Given the description of an element on the screen output the (x, y) to click on. 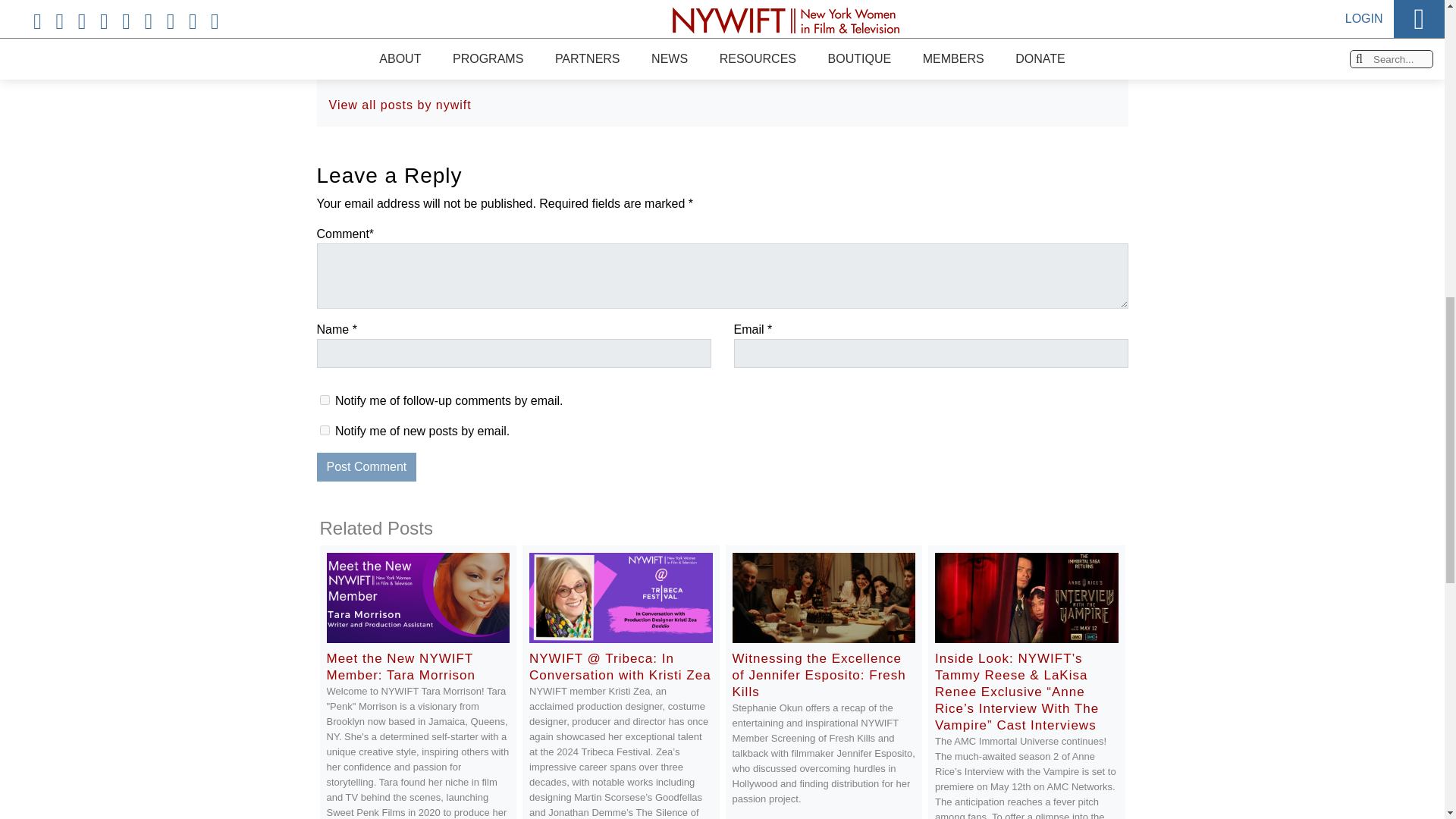
subscribe (325, 429)
Post Comment (366, 466)
subscribe (325, 399)
